Given the description of an element on the screen output the (x, y) to click on. 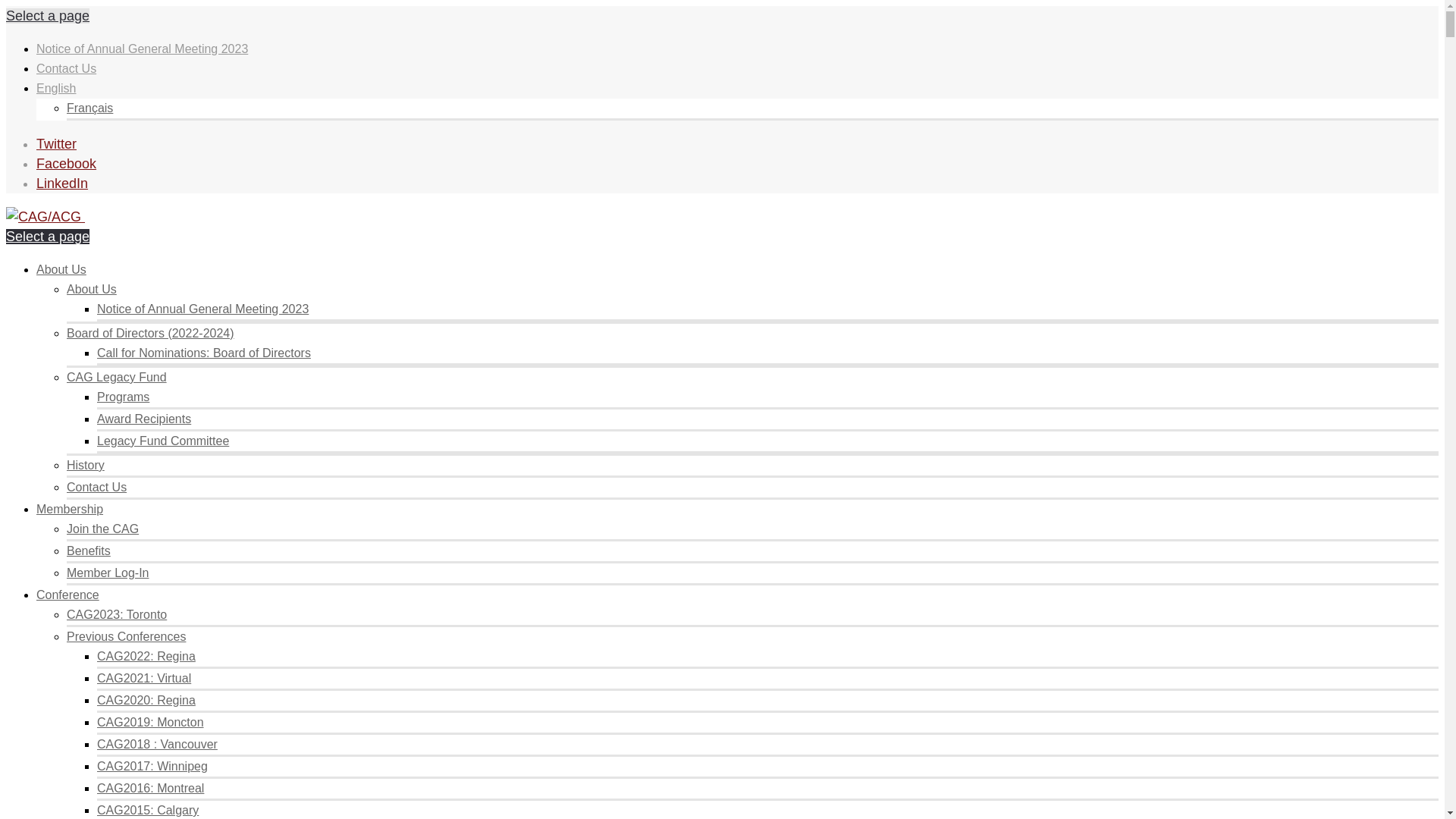
CAG2015: Calgary Element type: text (147, 809)
Board of Directors (2022-2024) Element type: text (150, 332)
CAG2023: Toronto Element type: text (116, 614)
Membership Element type: text (69, 508)
CAG Legacy Fund Element type: text (116, 376)
CAG2022: Regina Element type: text (146, 655)
Contact Us Element type: text (66, 68)
Contact Us Element type: text (96, 486)
Facebook Element type: text (66, 163)
About Us Element type: text (91, 288)
Call for Nominations: Board of Directors Element type: text (203, 352)
CAG2017: Winnipeg Element type: text (152, 765)
CAG2020: Regina Element type: text (146, 699)
Previous Conferences Element type: text (125, 636)
Select a page Element type: text (47, 236)
Benefits Element type: text (88, 550)
Award Recipients Element type: text (144, 418)
Select a page Element type: text (47, 15)
CAG2019: Moncton Element type: text (150, 721)
Notice of Annual General Meeting 2023 Element type: text (141, 48)
Programs Element type: text (123, 396)
LinkedIn Element type: text (61, 183)
Conference Element type: text (67, 594)
CAG2021: Virtual Element type: text (144, 677)
English Element type: text (55, 87)
History Element type: text (85, 464)
CAG2018 : Vancouver Element type: text (157, 743)
CAG2016: Montreal Element type: text (150, 787)
Join the CAG Element type: text (102, 528)
Legacy Fund Committee Element type: text (163, 440)
Member Log-In Element type: text (107, 572)
About Us Element type: text (61, 269)
Notice of Annual General Meeting 2023 Element type: text (202, 308)
Twitter Element type: text (56, 143)
